Given the description of an element on the screen output the (x, y) to click on. 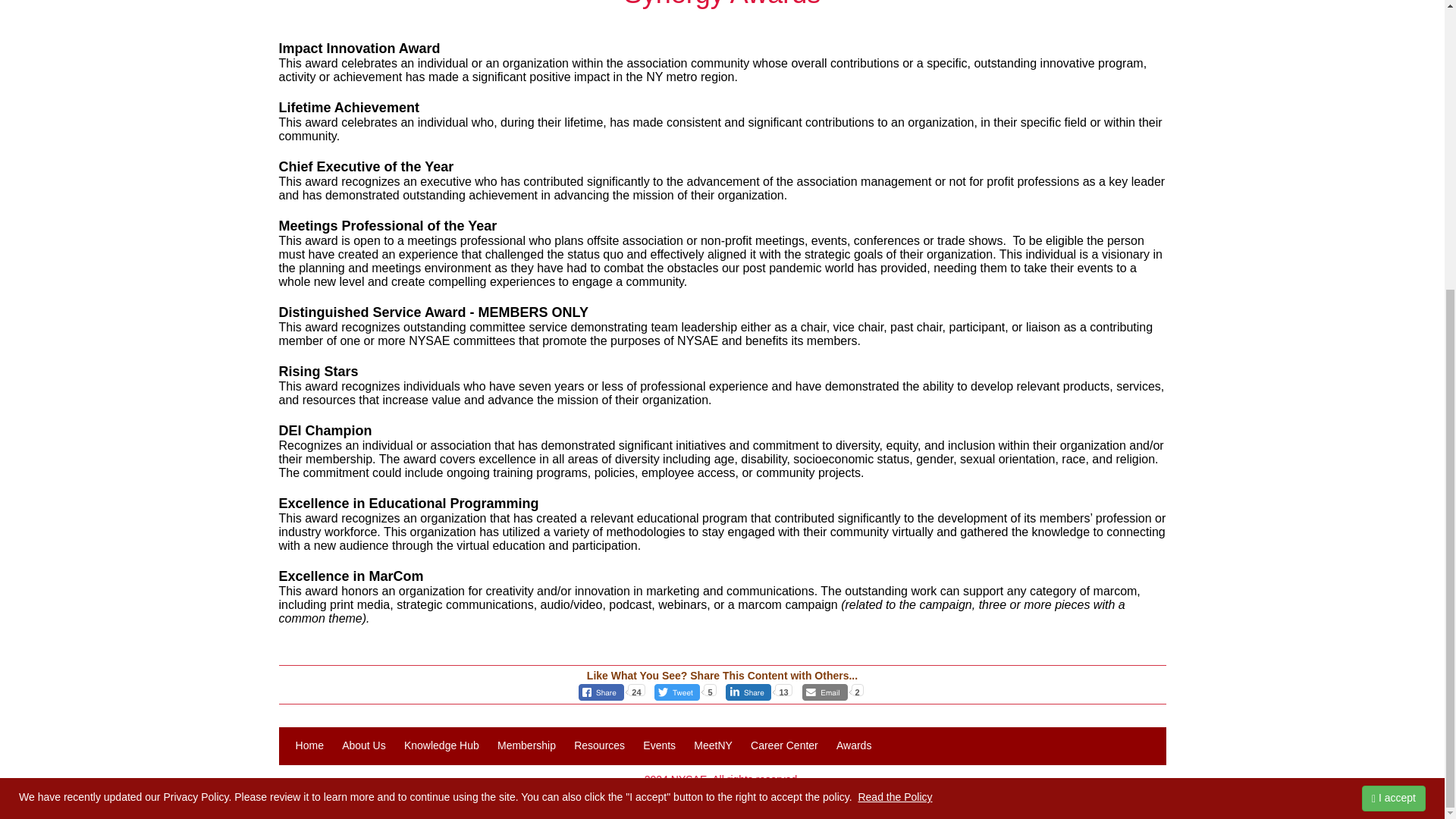
 I accept (1393, 358)
The site home page (310, 745)
Meet NY (713, 745)
Read the Policy (894, 357)
